Given the description of an element on the screen output the (x, y) to click on. 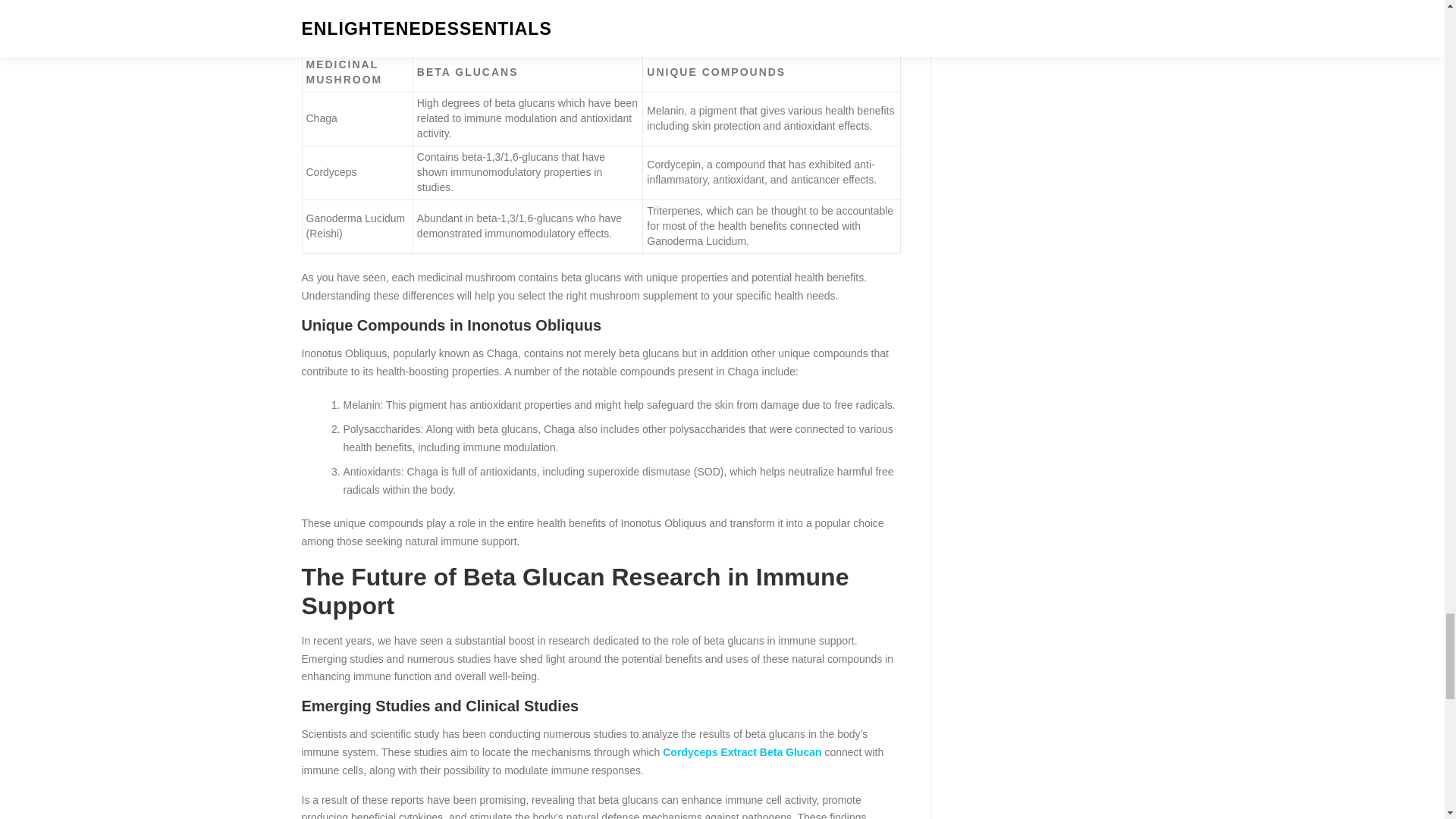
Cordyceps Extract Beta Glucan (741, 752)
